Given the description of an element on the screen output the (x, y) to click on. 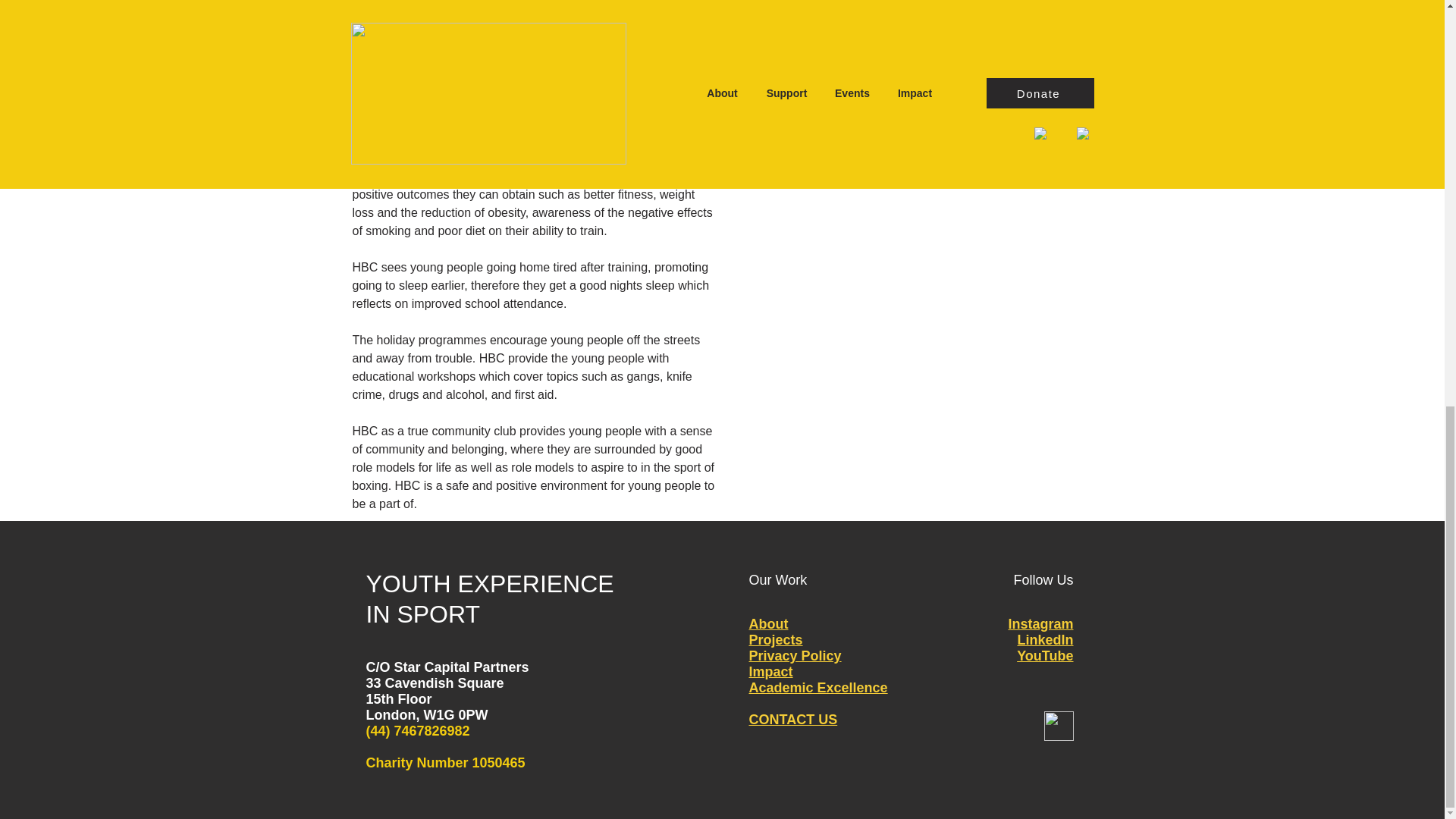
YouTube (1044, 655)
Projects (776, 639)
CONTACT US (793, 719)
Privacy Policy (795, 655)
LinkedIn (1044, 639)
Academic Excellence (818, 687)
Instagram (1040, 623)
About (769, 623)
Impact (771, 671)
ken-marsh.png (924, 19)
